Given the description of an element on the screen output the (x, y) to click on. 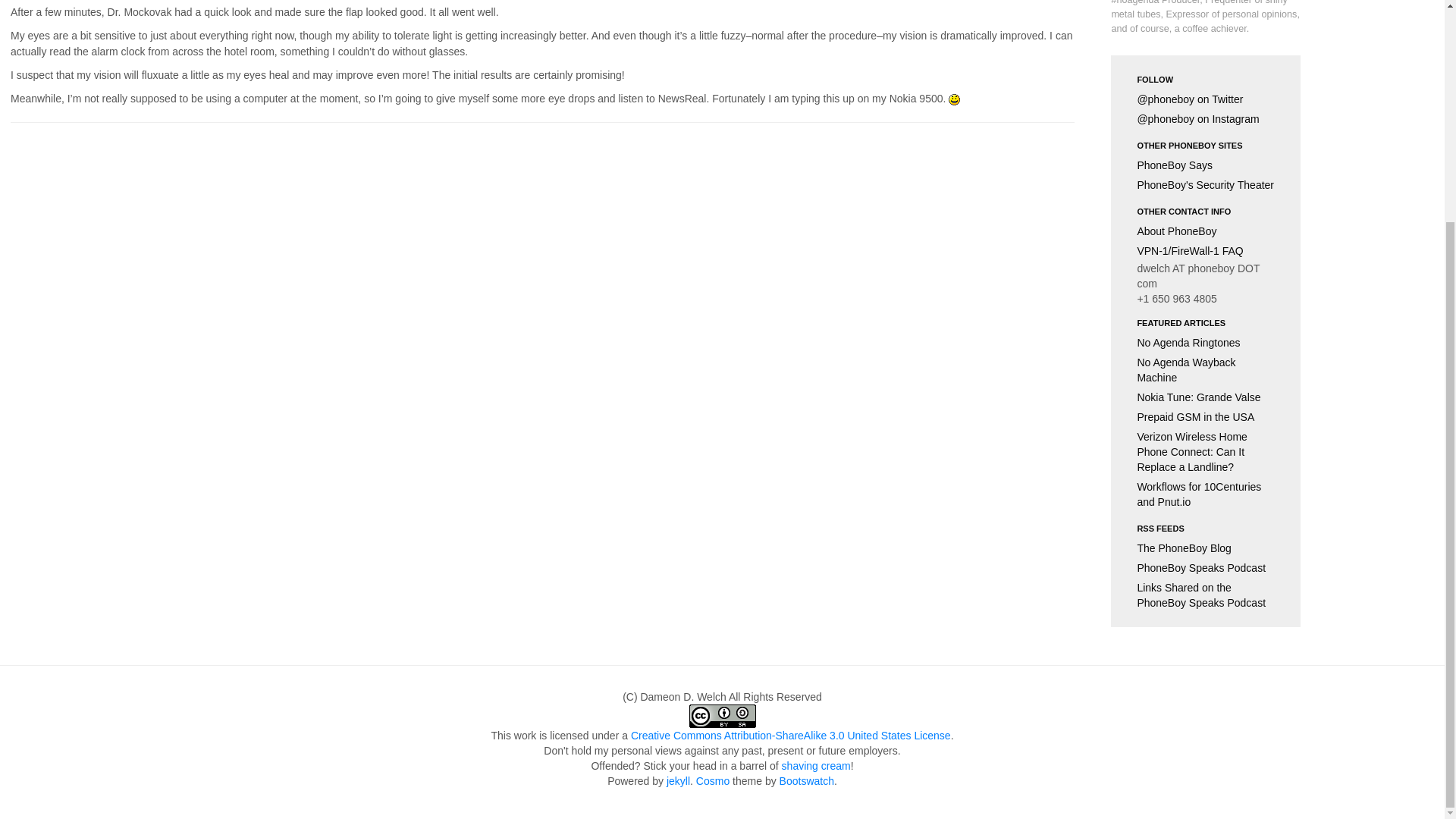
About PhoneBoy (1205, 230)
Cosmo (712, 780)
No Agenda Wayback Machine (1205, 369)
PhoneBoy's Security Theater (1205, 184)
Workflows for 10Centuries and Pnut.io (1205, 493)
Nokia Tune: Grande Valse (1205, 397)
PhoneBoy Says (1205, 165)
shaving cream (815, 766)
Bootswatch (806, 780)
The PhoneBoy Blog (1205, 547)
jekyll (678, 780)
Links Shared on the PhoneBoy Speaks Podcast (1205, 595)
Prepaid GSM in the USA (1205, 416)
